Given the description of an element on the screen output the (x, y) to click on. 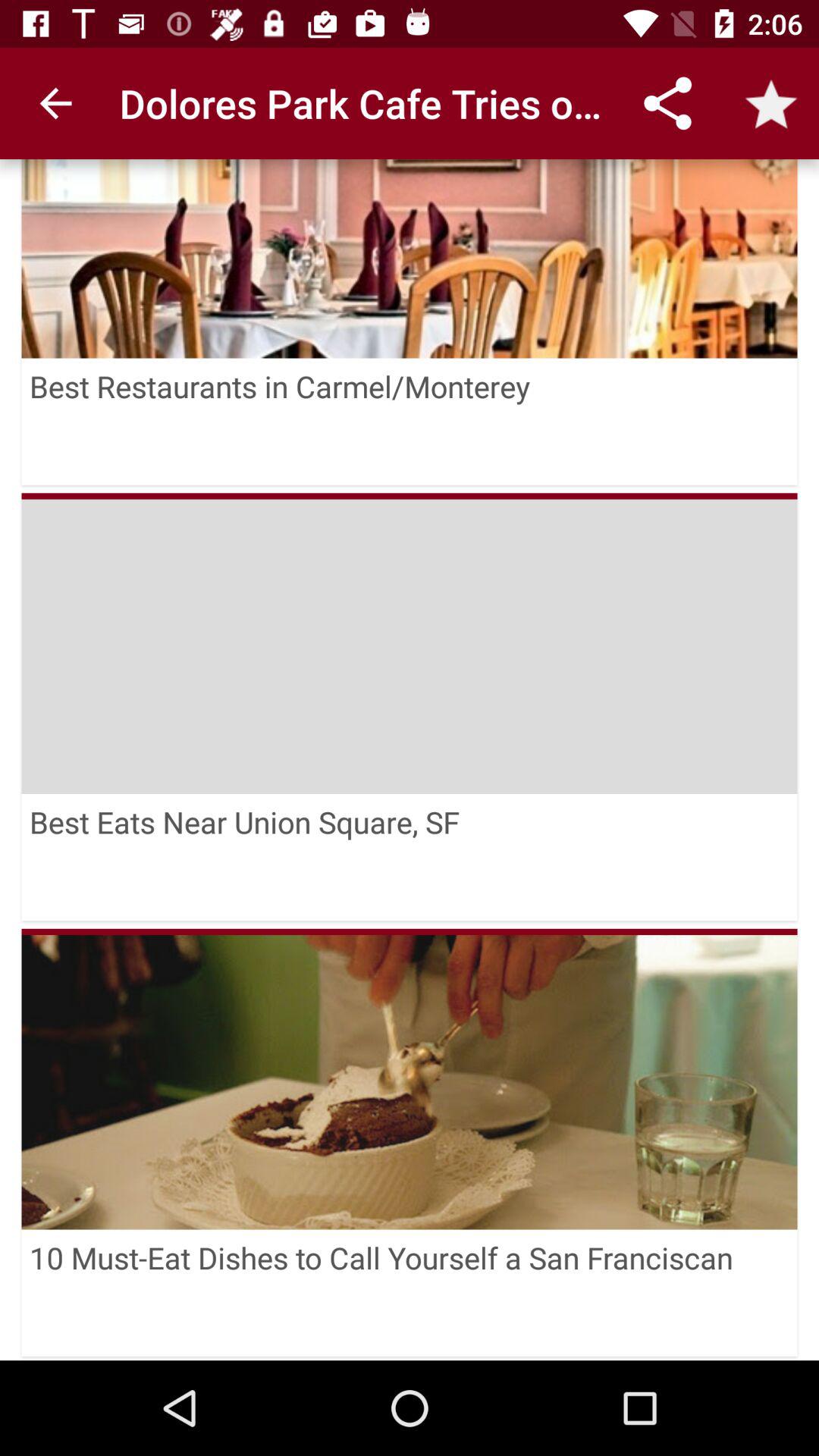
select icon below the best restaurants in (409, 643)
